Given the description of an element on the screen output the (x, y) to click on. 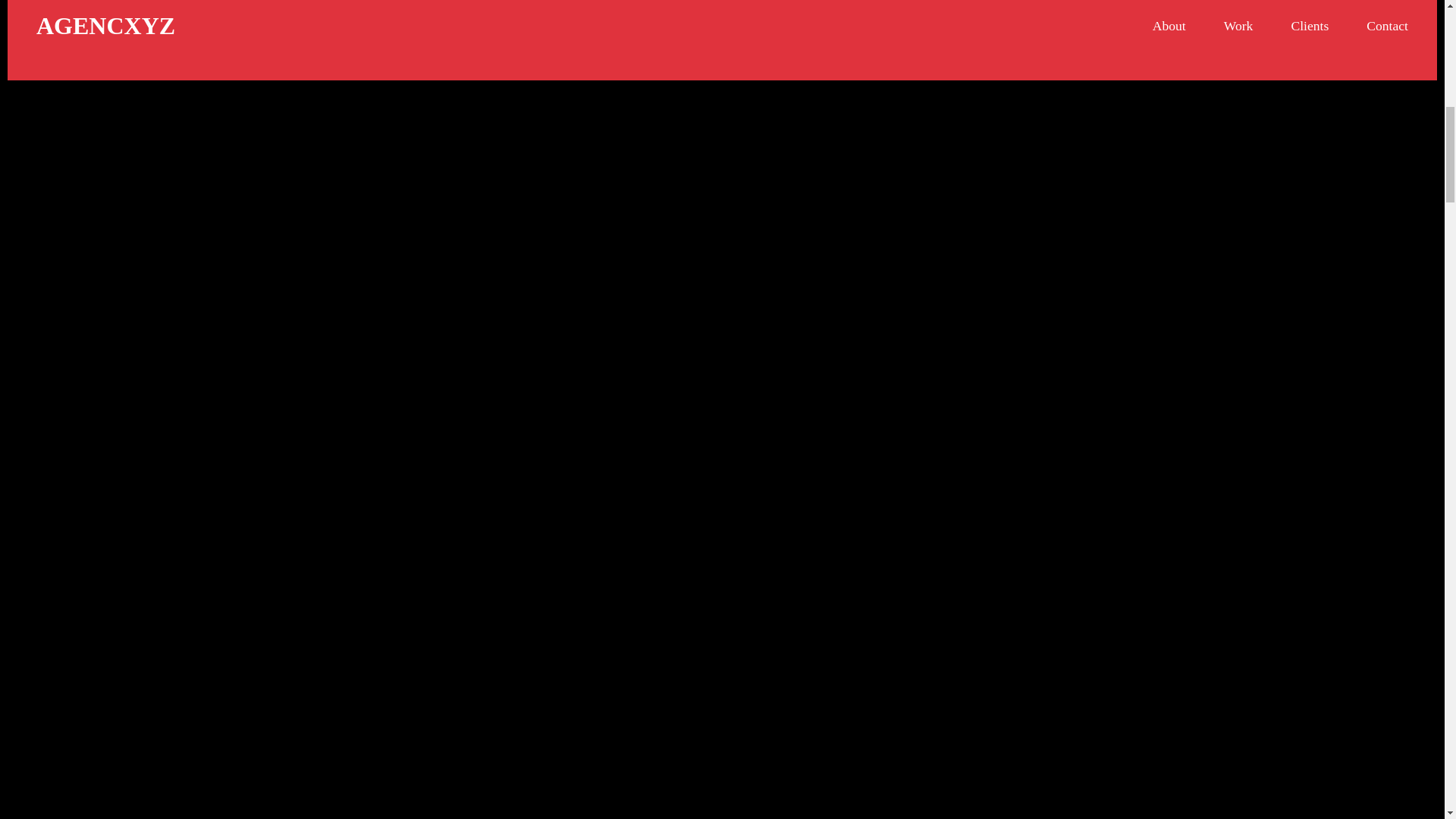
Artboard 1 (722, 40)
